Given the description of an element on the screen output the (x, y) to click on. 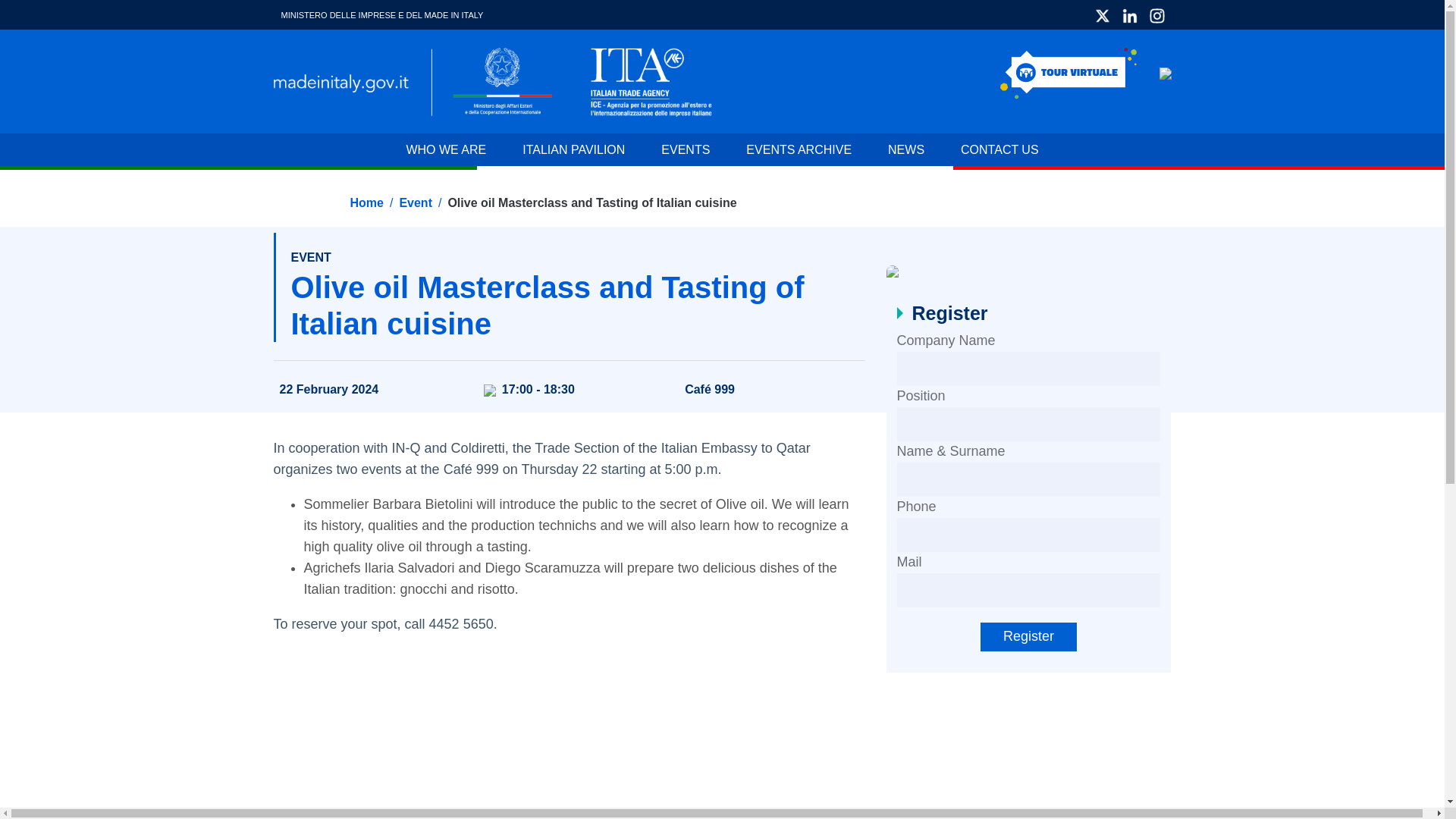
WHO WE ARE (454, 151)
EVENTS (685, 151)
EVENTS ARCHIVE (798, 151)
EVENTS (685, 151)
NEWS (905, 151)
Event (415, 202)
WHO WE ARE (454, 151)
EVENTS ARCHIVE (798, 151)
NEWS (905, 151)
Home (365, 202)
